Given the description of an element on the screen output the (x, y) to click on. 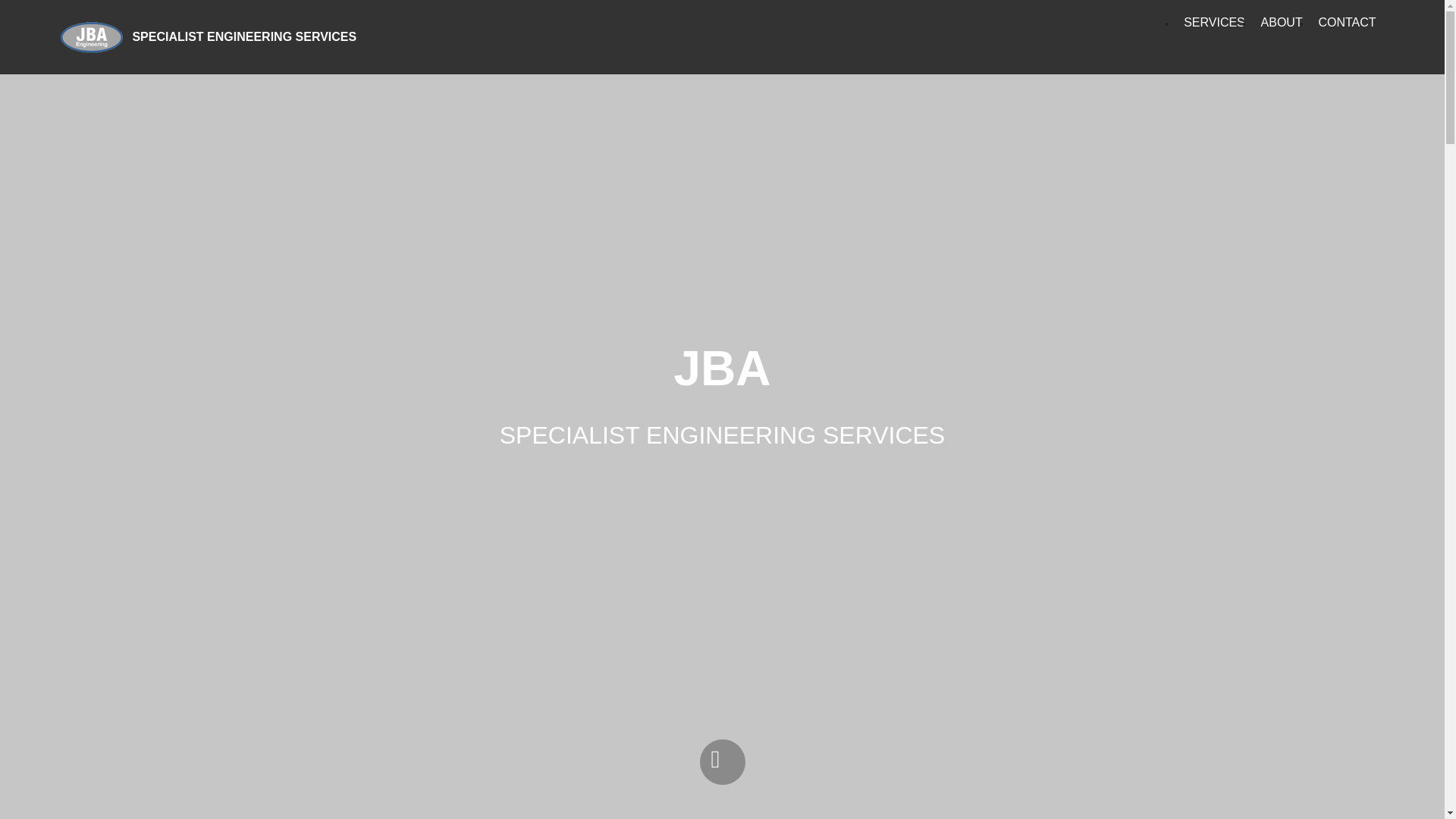
SERVICES (1213, 22)
CONTACT (1346, 22)
SPECIALIST ENGINEERING SERVICES (256, 36)
ABOUT (1281, 22)
